Given the description of an element on the screen output the (x, y) to click on. 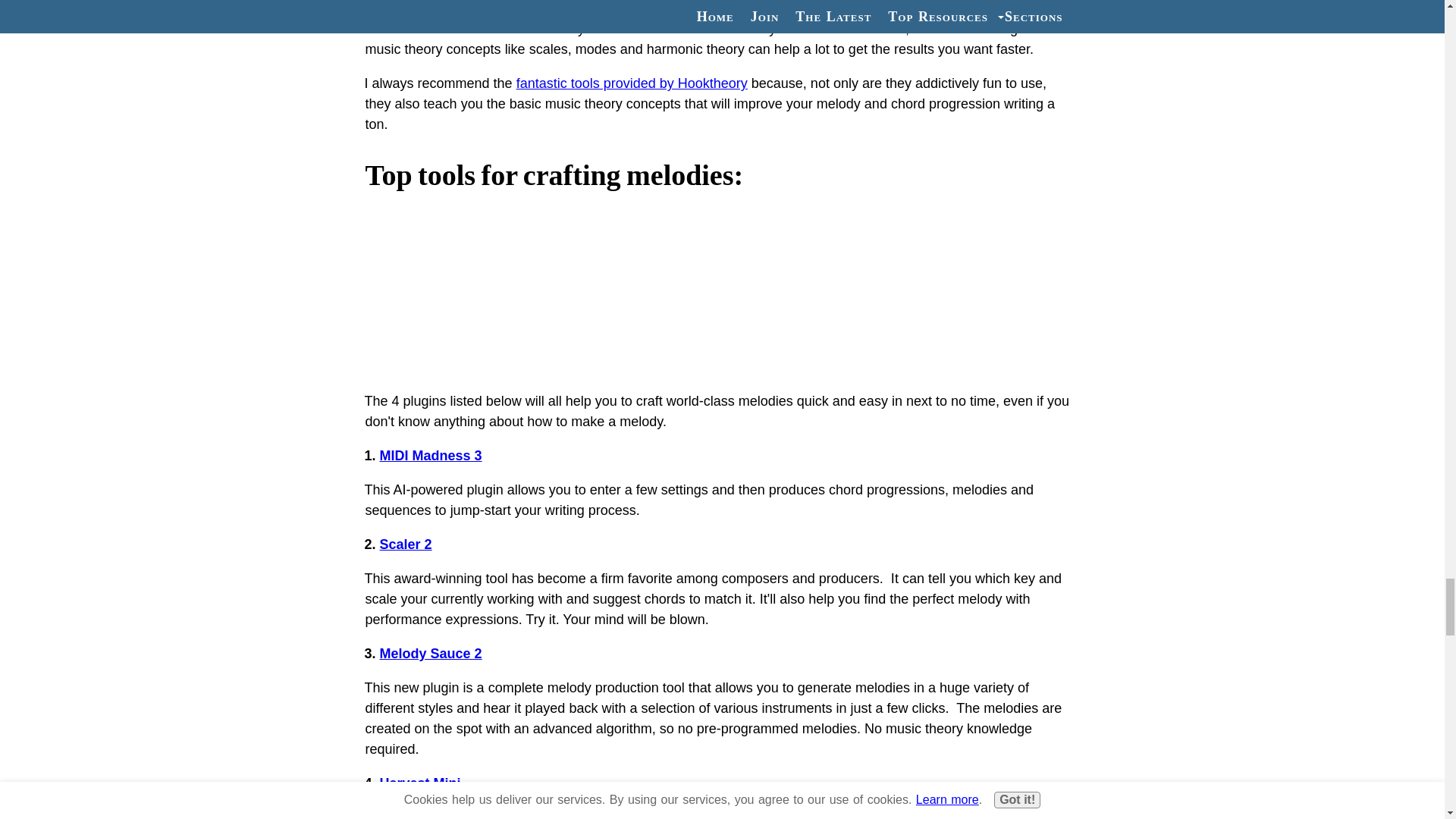
fantastic tools provided by Hooktheory (632, 83)
Scaler 2 (406, 544)
MIDI Madness 3 (430, 455)
Melody Sauce 2 (430, 653)
Image of headphones - Text "Tools" (722, 290)
Harvest Mini (420, 783)
